Given the description of an element on the screen output the (x, y) to click on. 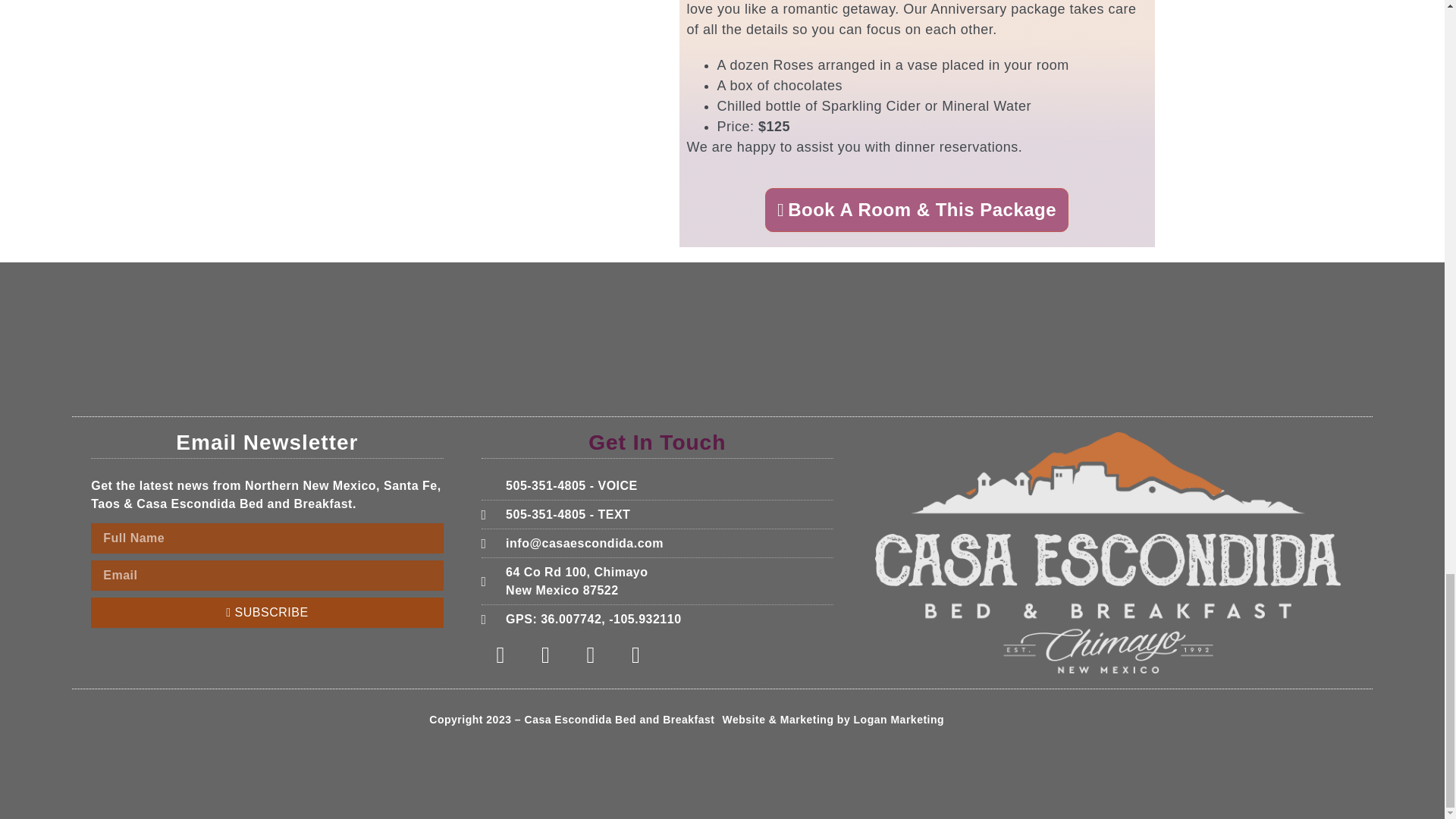
Logan Marketing (898, 719)
SUBSCRIBE (266, 612)
505-351-4805 - TEXT (656, 515)
505-351-4805 - VOICE (656, 581)
GPS: 36.007742, -105.932110 (656, 485)
